Given the description of an element on the screen output the (x, y) to click on. 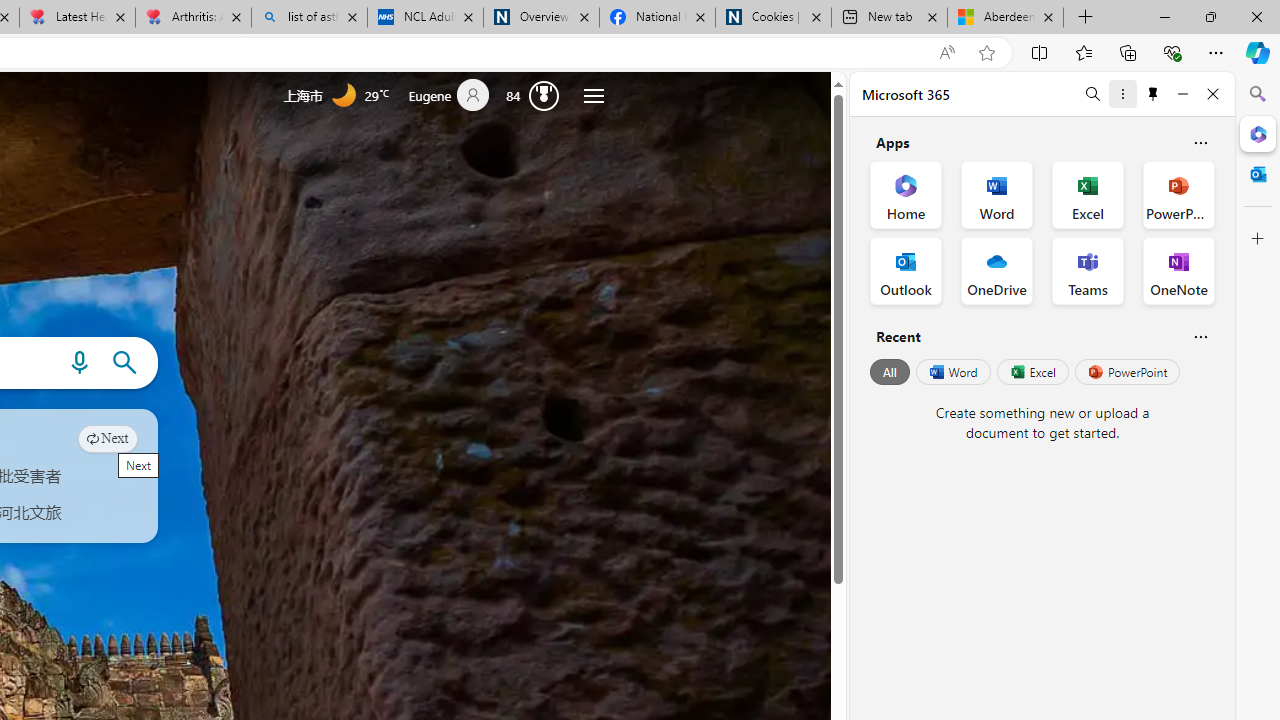
Home Office App (906, 194)
list of asthma inhalers uk - Search (309, 17)
Microsoft Rewards 84 (537, 94)
Next (108, 438)
